Given the description of an element on the screen output the (x, y) to click on. 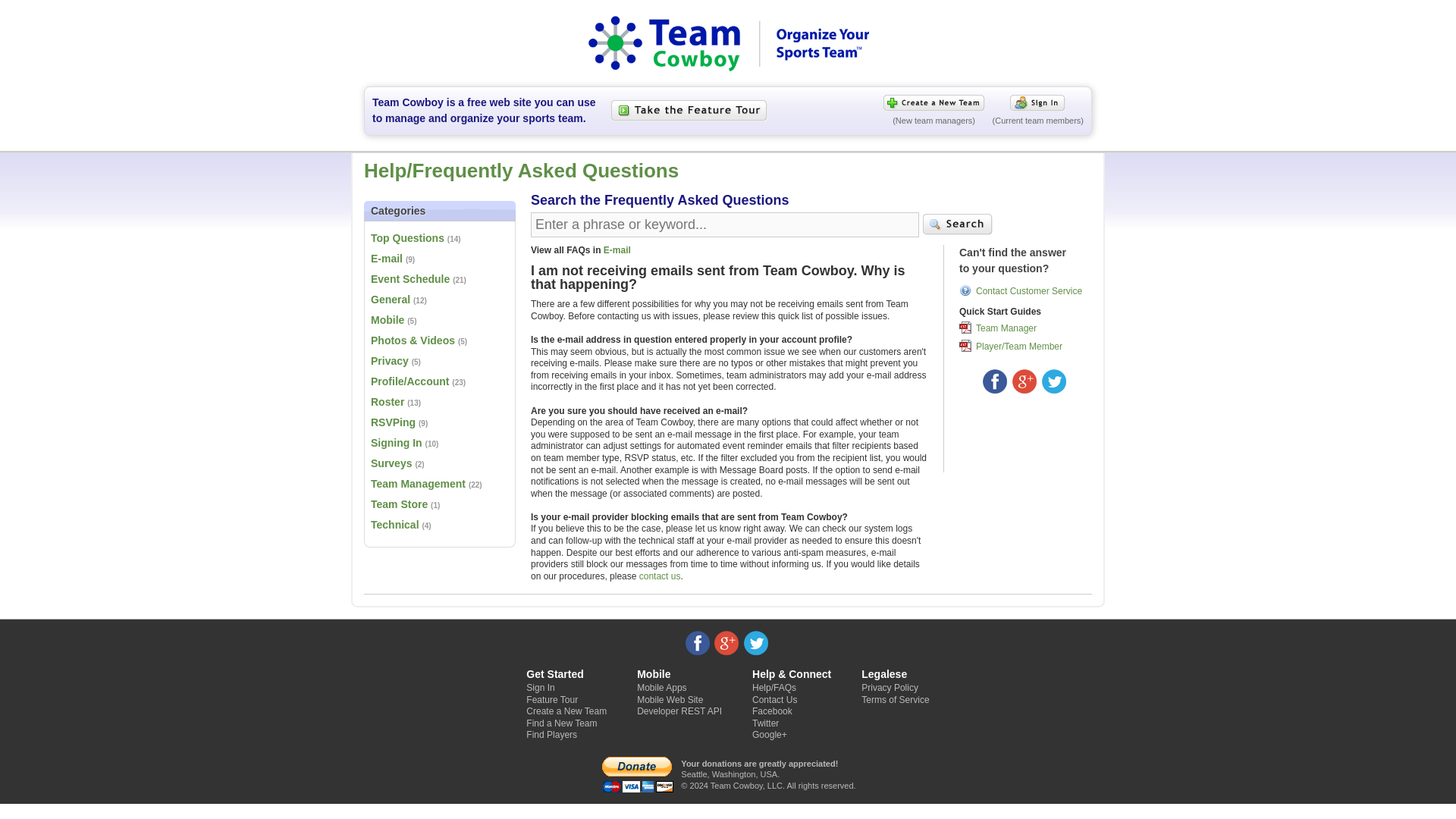
E-mail (617, 249)
Team Store (399, 503)
Roster (387, 401)
Mobile Apps (661, 687)
Technical (395, 524)
Team Manager (1005, 327)
Event Schedule (410, 278)
Find a New Team (560, 723)
Mobile (387, 319)
Feature Tour (551, 699)
